Given the description of an element on the screen output the (x, y) to click on. 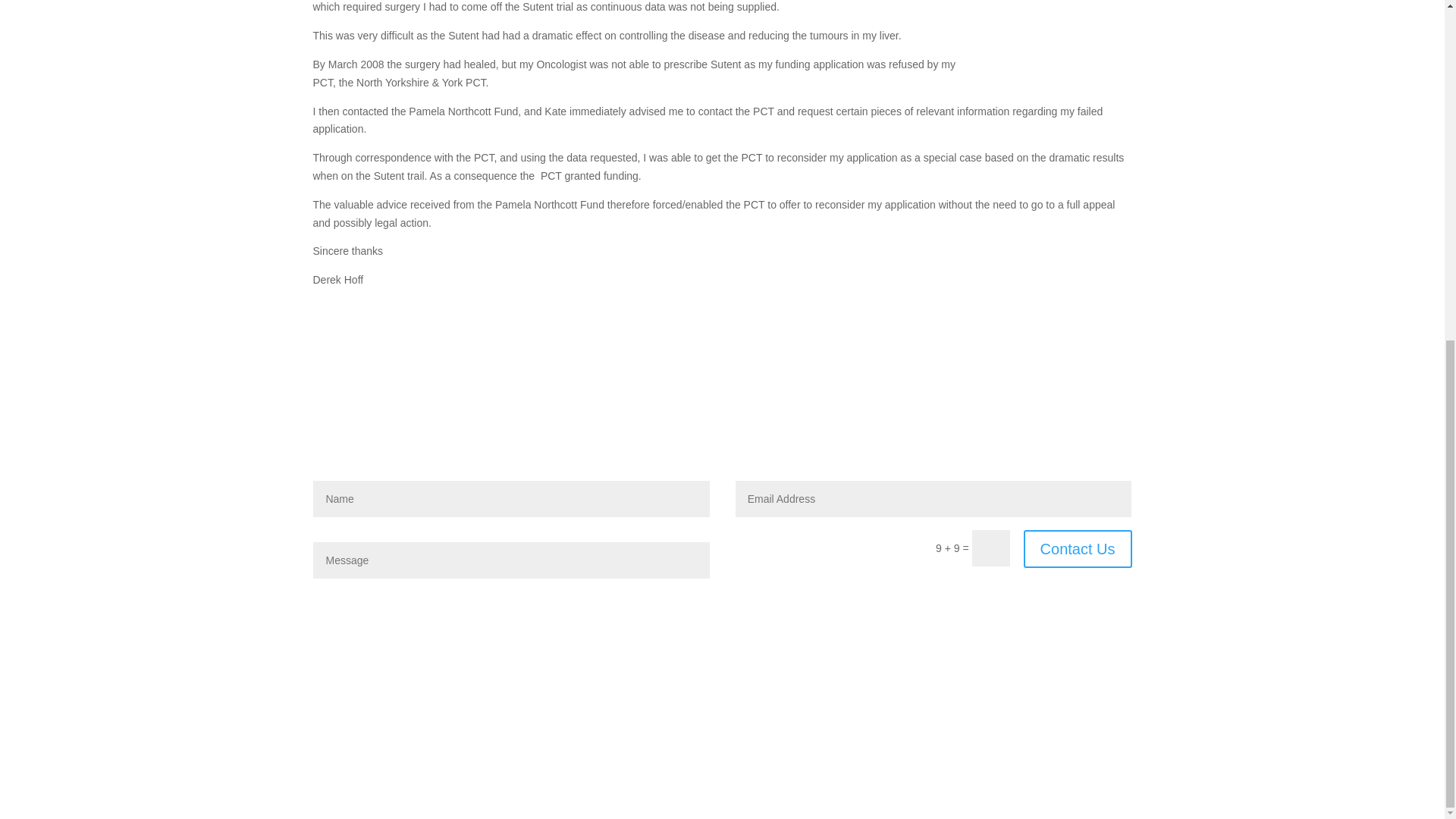
Contact Us (1077, 548)
Follow on Twitter (1118, 739)
The Web Hound (442, 735)
